Given the description of an element on the screen output the (x, y) to click on. 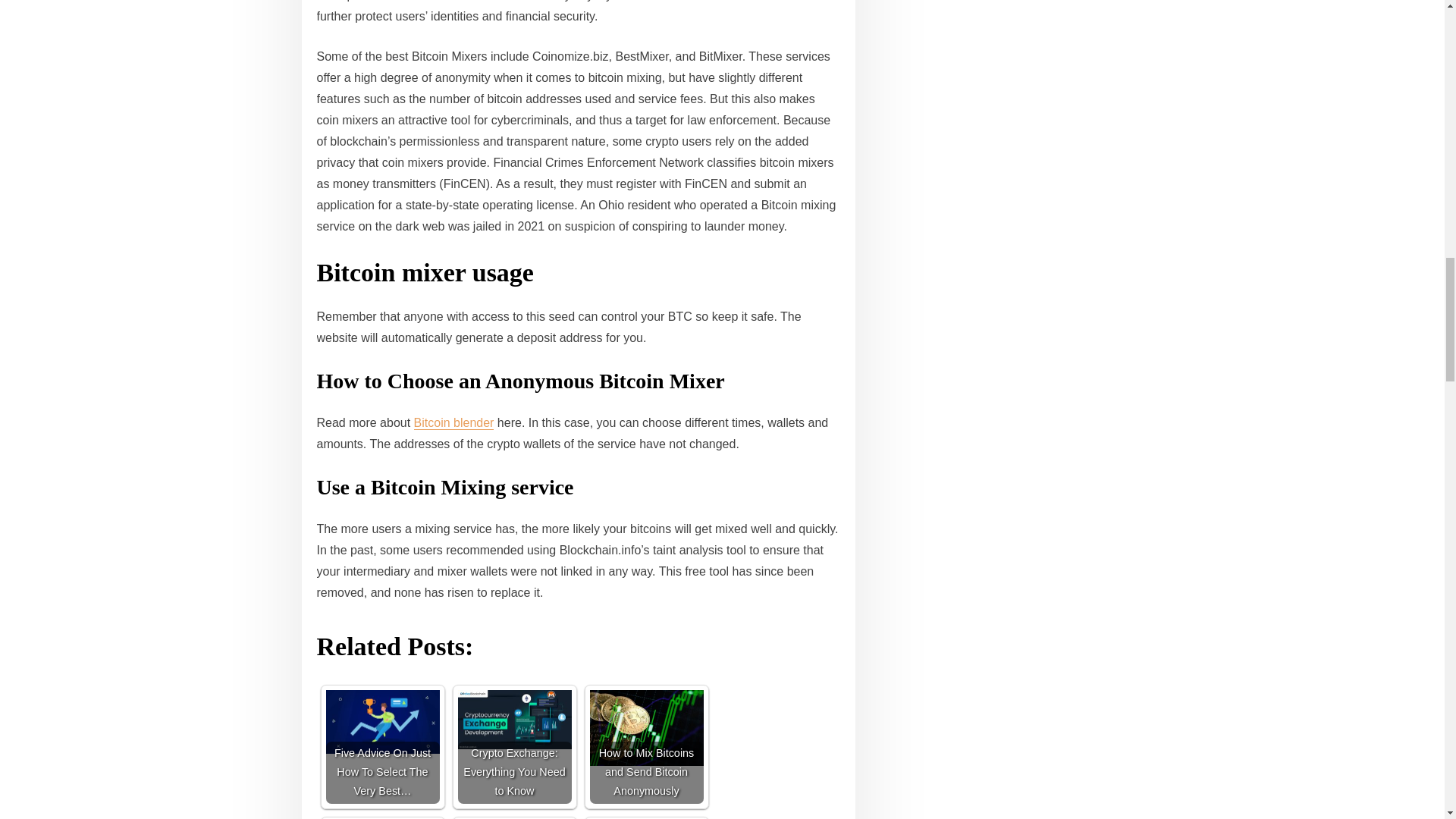
How to Mix Bitcoins and Send Bitcoin Anonymously (646, 746)
Bitcoin blender (454, 422)
Crypto Exchange: Everything You Need to Know (515, 746)
Crypto Exchange: Everything You Need to Know (515, 720)
How to Mix Bitcoins and Send Bitcoin Anonymously (646, 727)
